Given the description of an element on the screen output the (x, y) to click on. 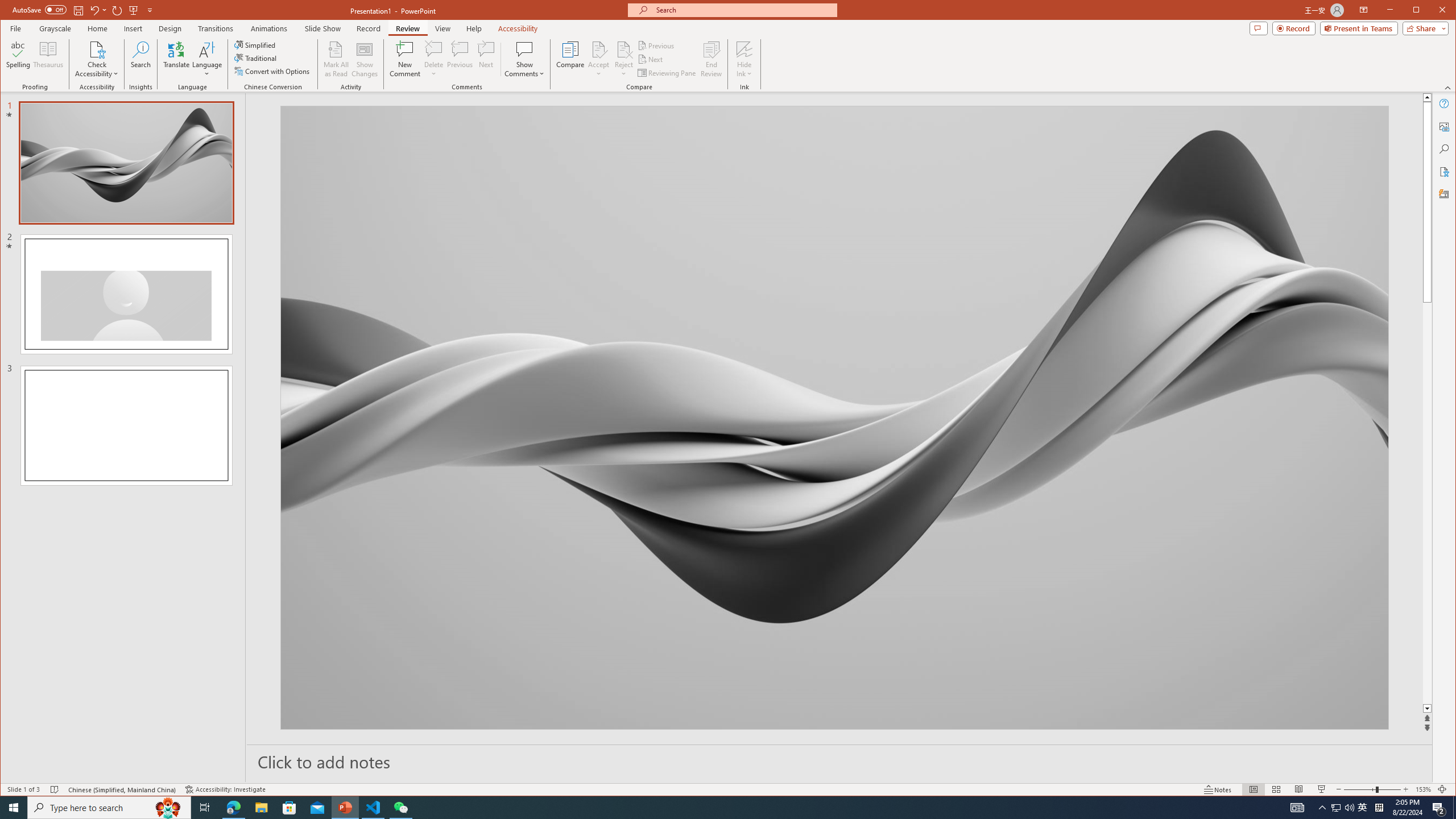
Translate (175, 59)
Reviewing Pane (667, 72)
Show Changes (365, 59)
Accept Change (598, 48)
Zoom 153% (1422, 789)
